Given the description of an element on the screen output the (x, y) to click on. 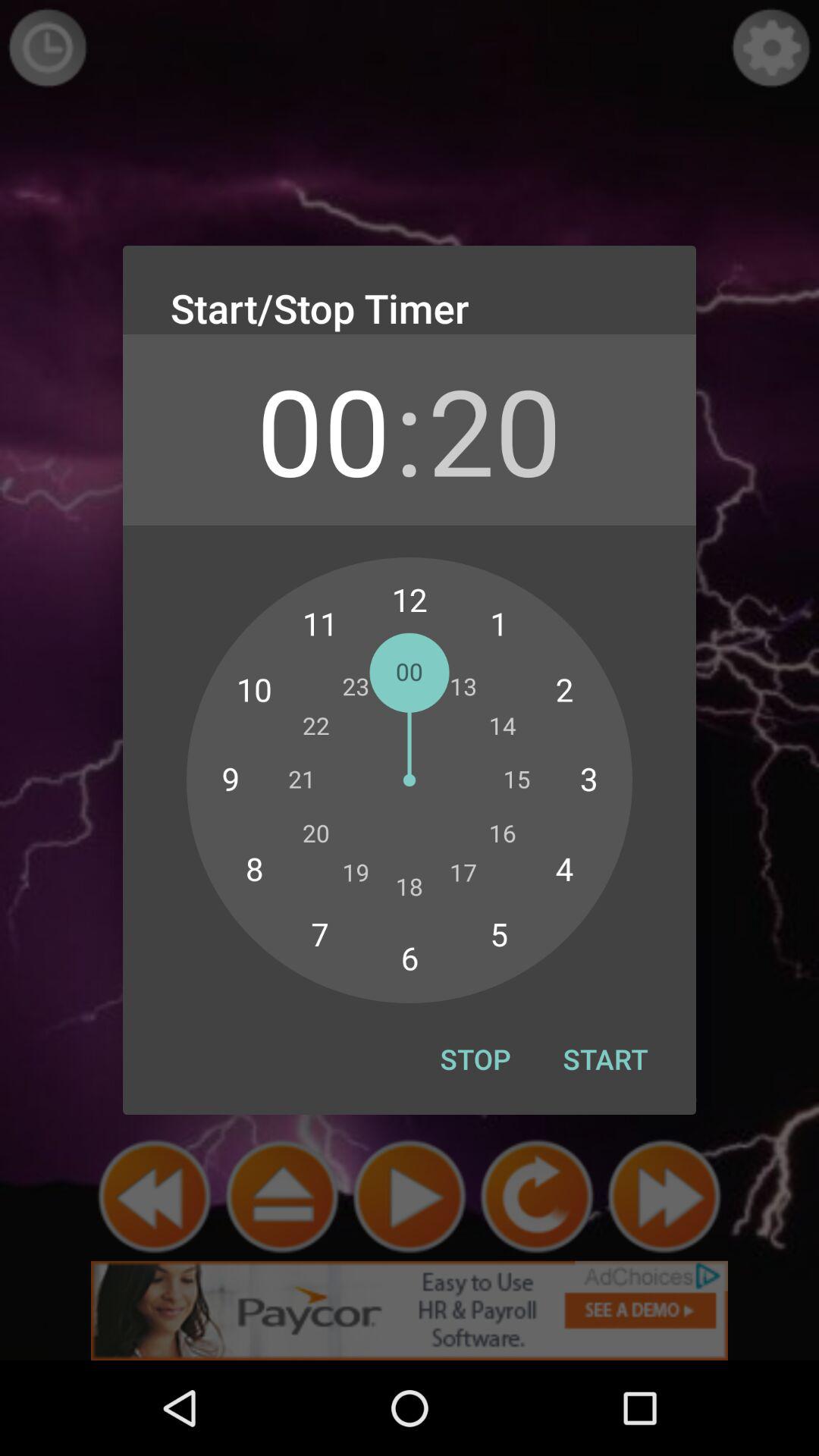
choose the 20 app (494, 429)
